Given the description of an element on the screen output the (x, y) to click on. 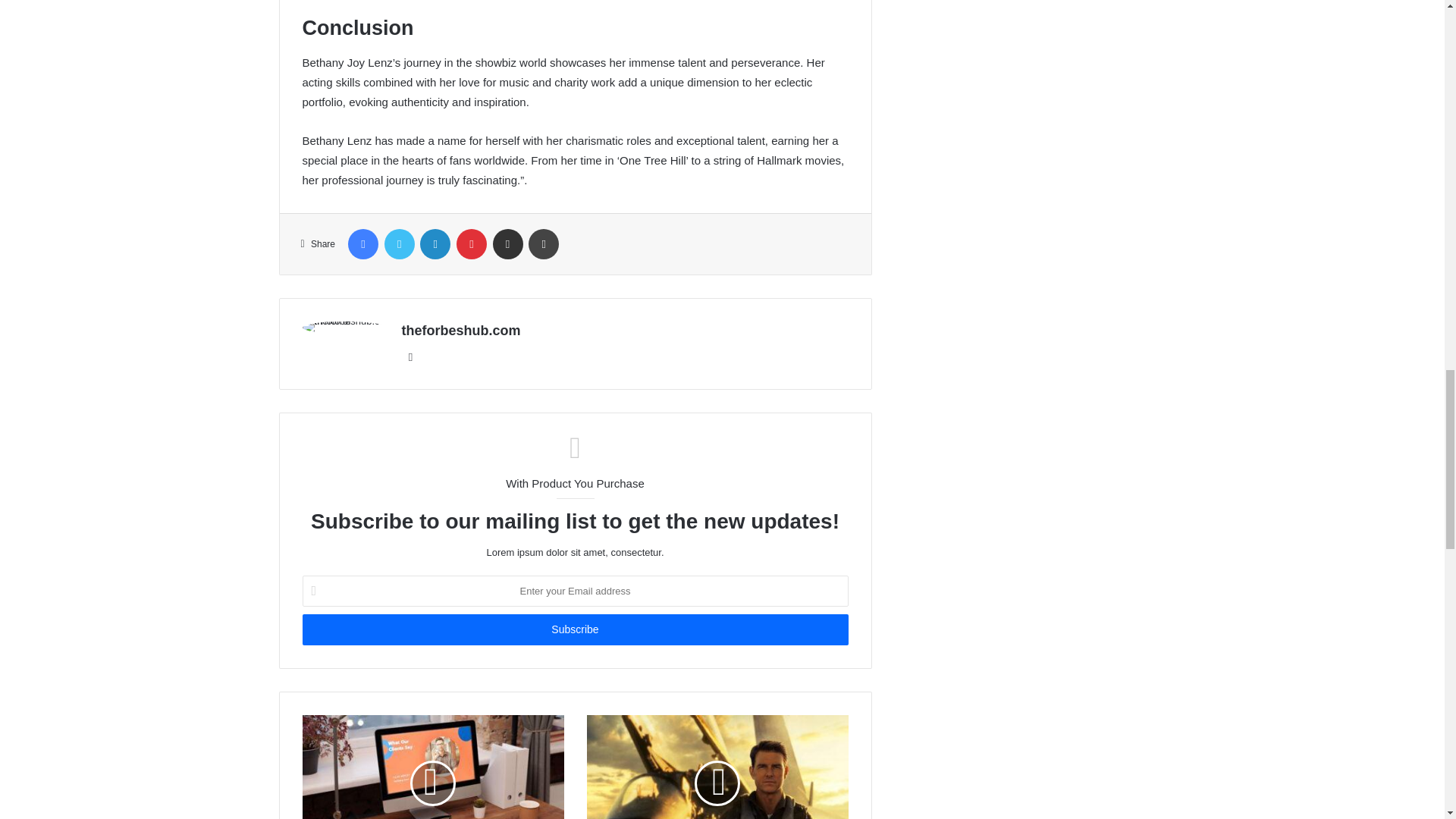
Subscribe (574, 629)
